Given the description of an element on the screen output the (x, y) to click on. 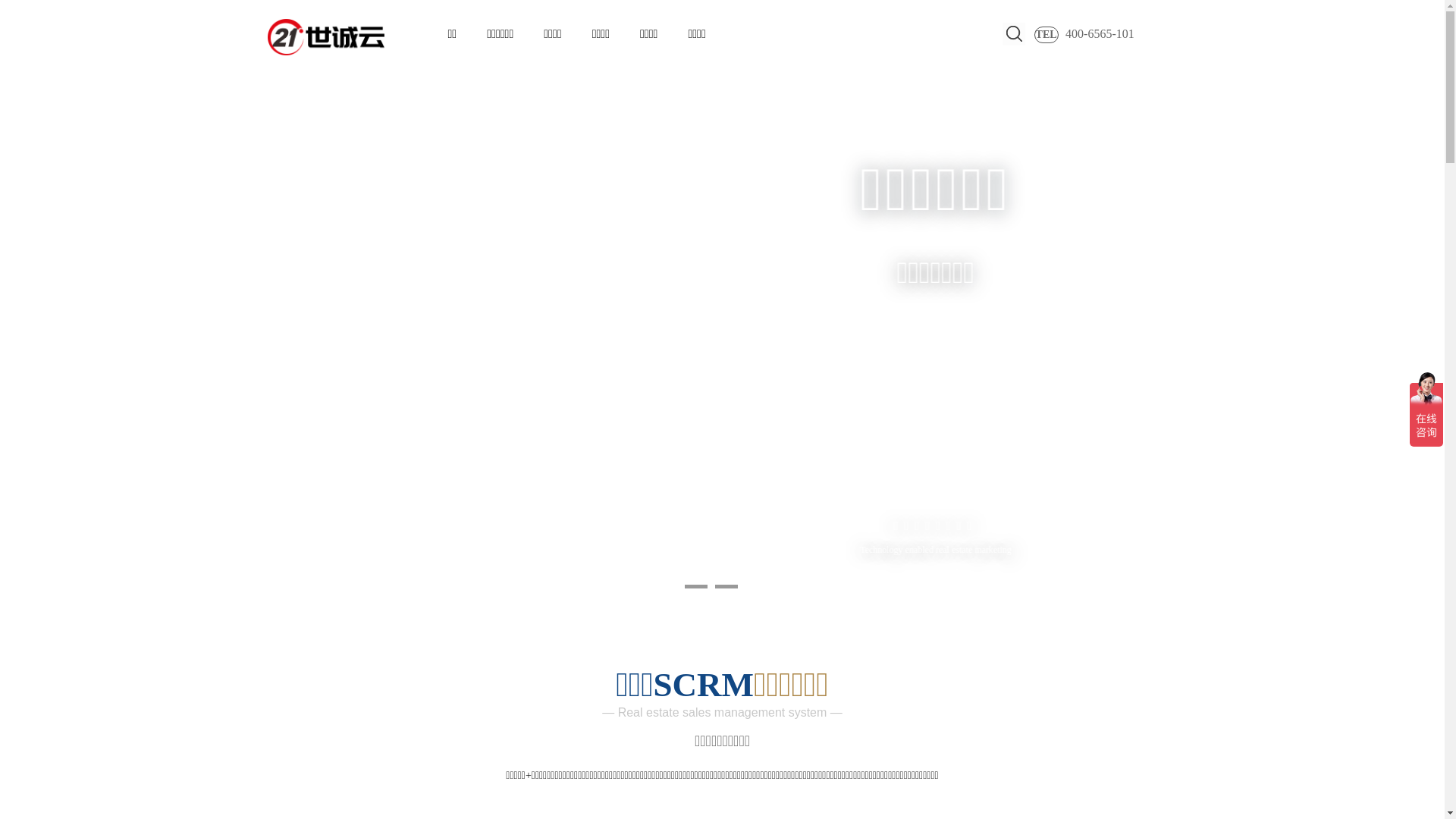
2 Element type: text (725, 586)
3 Element type: text (755, 586)
1 Element type: text (695, 586)
400-6565-101 Element type: text (1108, 34)
TEL Element type: text (1046, 34)
